Given the description of an element on the screen output the (x, y) to click on. 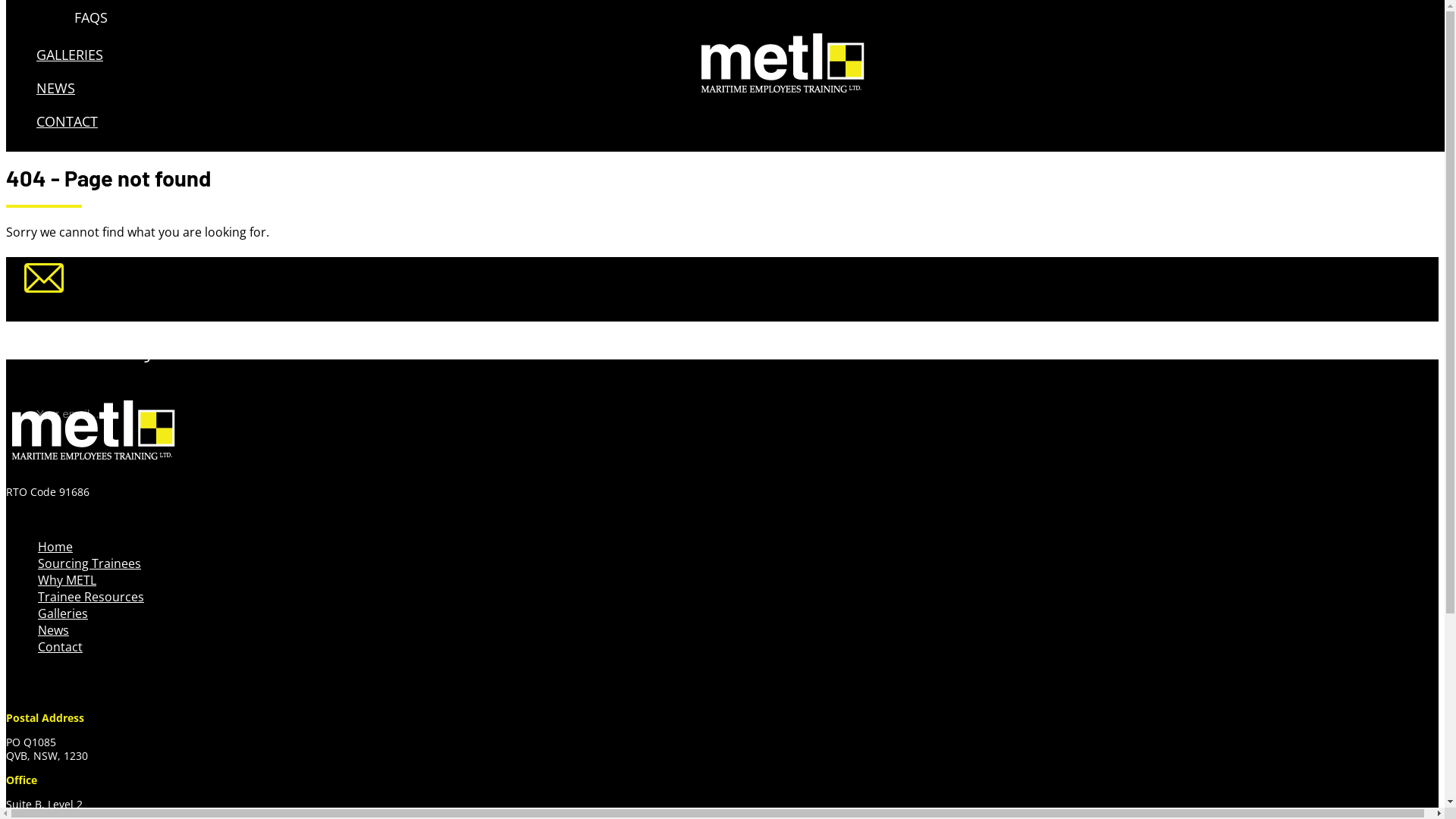
Sourcing Trainees Element type: text (89, 563)
Home Element type: text (54, 546)
GALLERIES Element type: text (69, 54)
FAQS Element type: text (475, 17)
Galleries Element type: text (62, 613)
Contact Element type: text (59, 646)
Trainee Resources Element type: text (90, 596)
Why METL Element type: text (66, 579)
News Element type: text (53, 629)
Metl  Logo Element type: hover (93, 433)
CONTACT Element type: text (66, 121)
NEWS Element type: text (55, 87)
Metl  Logo Element type: hover (782, 66)
